Given the description of an element on the screen output the (x, y) to click on. 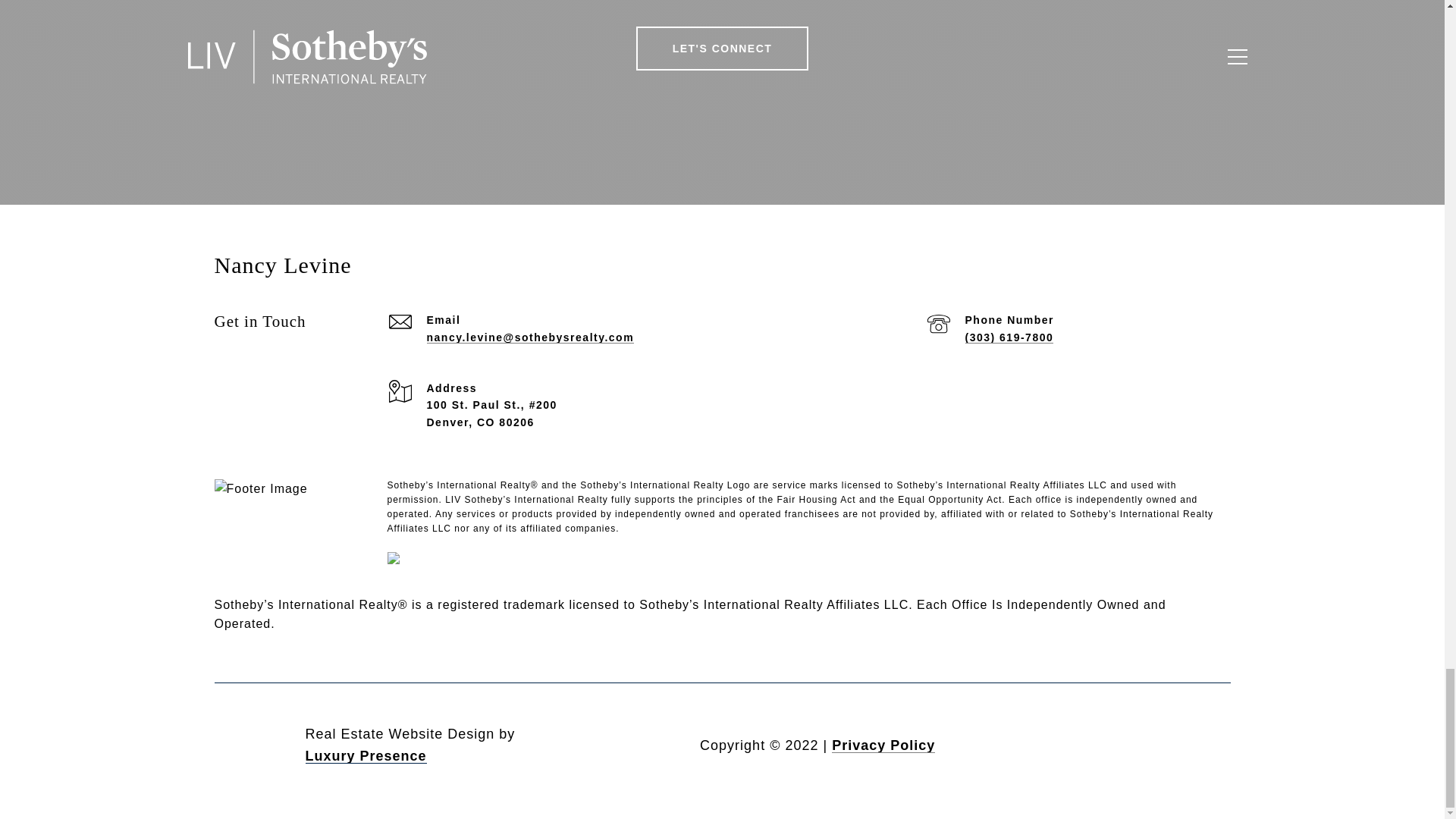
Luxury Presence (365, 755)
LET'S CONNECT (722, 48)
Privacy Policy (882, 744)
